Given the description of an element on the screen output the (x, y) to click on. 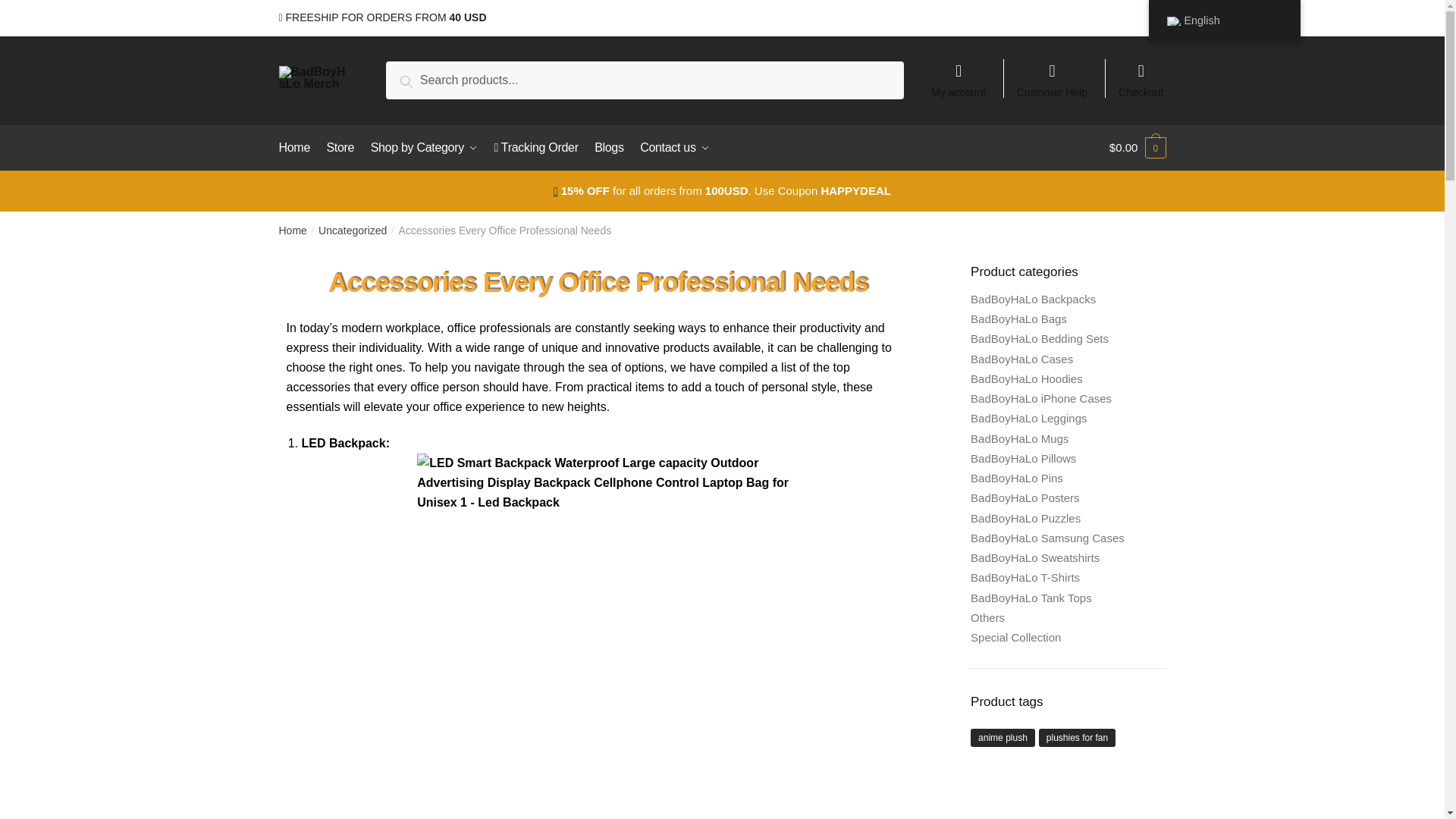
Home (297, 147)
Search (423, 78)
English (1172, 20)
View your shopping cart (1137, 147)
Store (339, 147)
Checkout (1141, 73)
Shop by Category (424, 147)
My account (957, 73)
Customer Help (1052, 73)
